Given the description of an element on the screen output the (x, y) to click on. 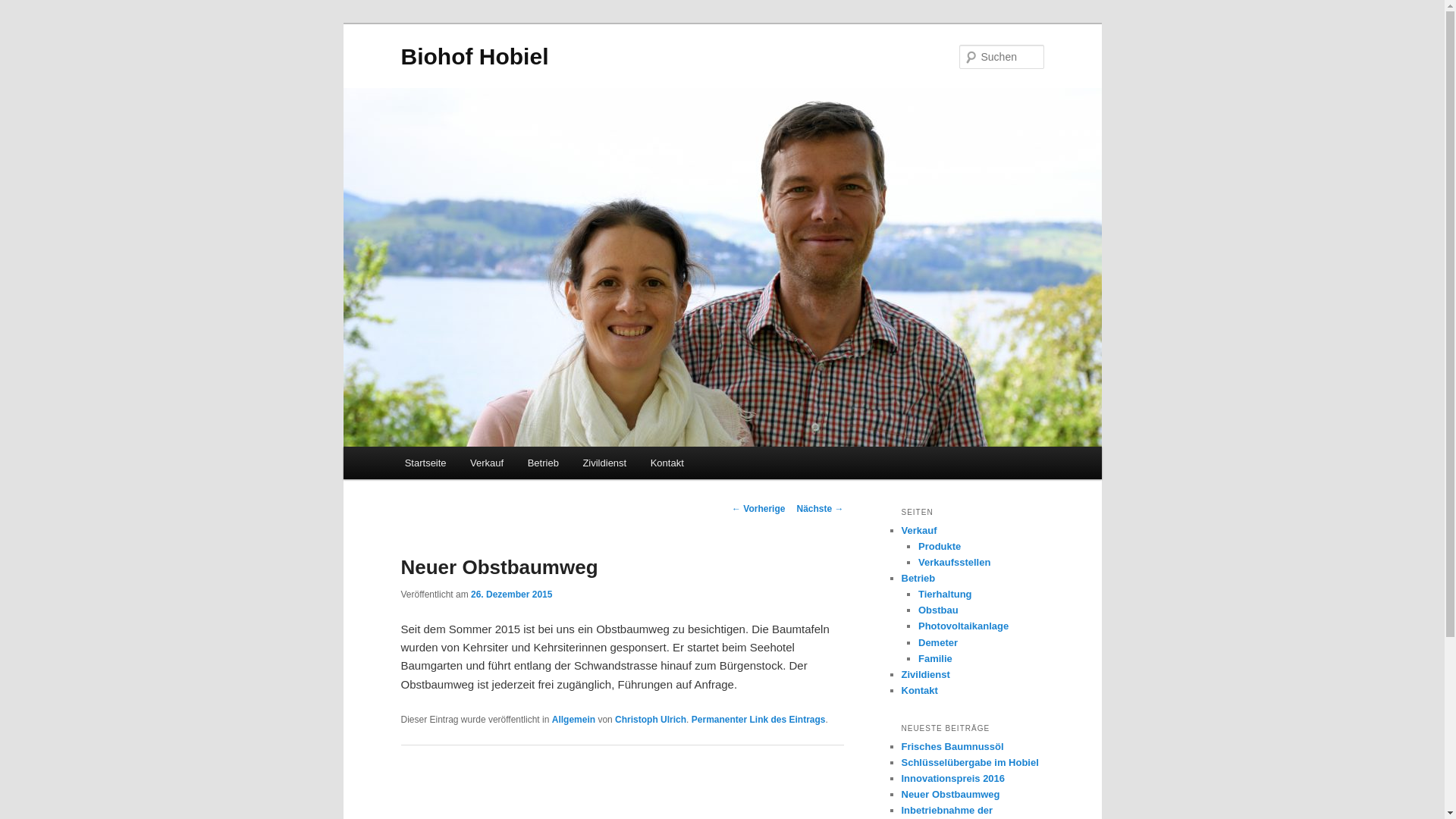
Produkte Element type: text (939, 546)
Demeter Element type: text (937, 642)
Tierhaltung Element type: text (945, 593)
Zivildienst Element type: text (604, 462)
Verkaufsstellen Element type: text (954, 561)
Startseite Element type: text (425, 462)
Verkauf Element type: text (918, 530)
Obstbau Element type: text (938, 609)
Familie Element type: text (935, 658)
Zivildienst Element type: text (924, 674)
Kontakt Element type: text (667, 462)
Neuer Obstbaumweg Element type: text (949, 794)
Verkauf Element type: text (486, 462)
Biohof Hobiel Element type: text (474, 56)
Suchen Element type: text (25, 8)
Christoph Ulrich Element type: text (650, 719)
Permanenter Link des Eintrags Element type: text (758, 719)
Photovoltaikanlage Element type: text (963, 625)
Allgemein Element type: text (573, 719)
26. Dezember 2015 Element type: text (511, 594)
Betrieb Element type: text (543, 462)
Zum Inhalt wechseln Element type: text (466, 465)
Innovationspreis 2016 Element type: text (952, 778)
Betrieb Element type: text (917, 577)
Kontakt Element type: text (918, 690)
